Given the description of an element on the screen output the (x, y) to click on. 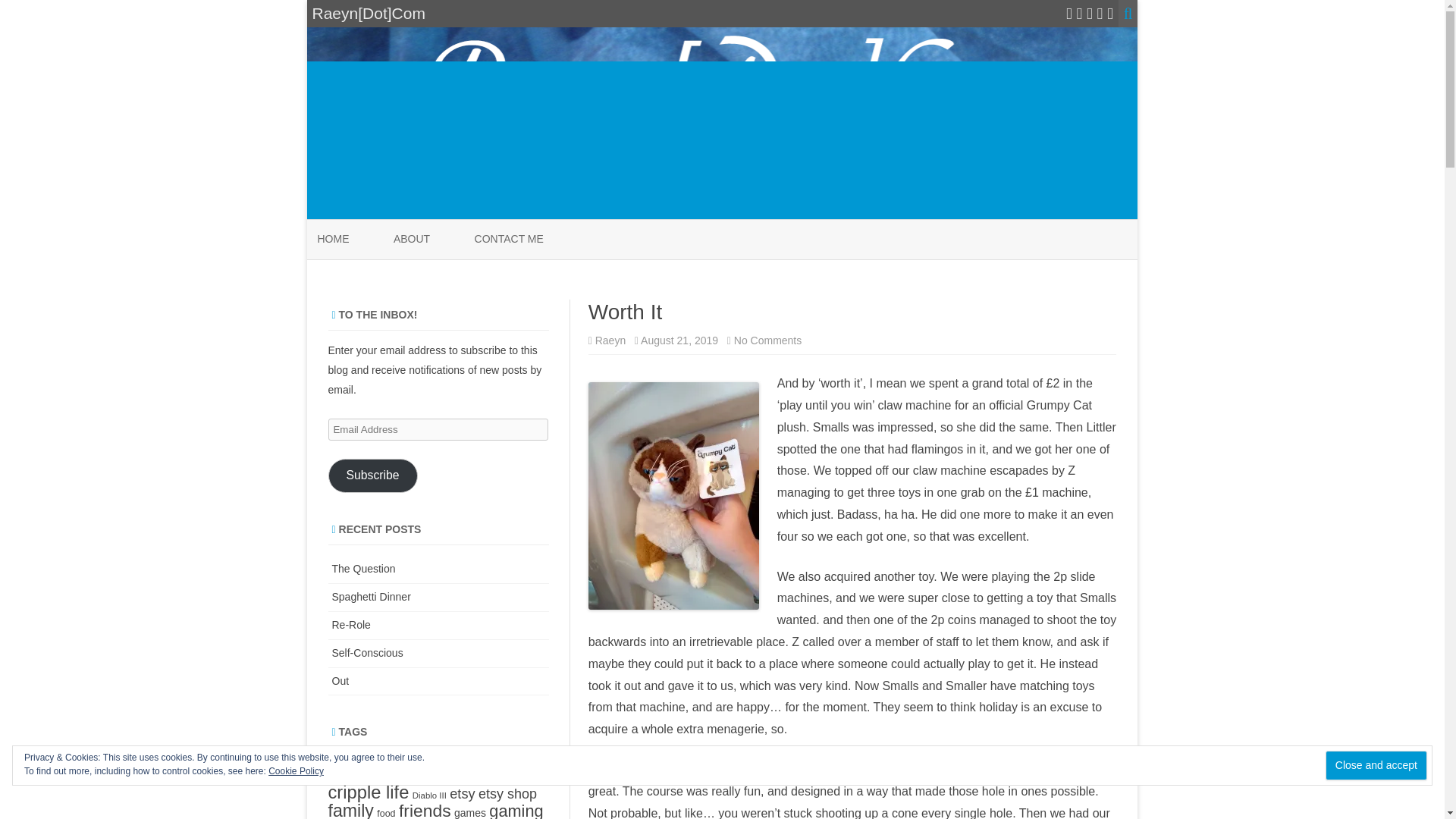
Close and accept (1375, 765)
Subscribe (371, 475)
ABOUT (411, 239)
CONTACT ME (508, 239)
Raeyn (767, 340)
